Given the description of an element on the screen output the (x, y) to click on. 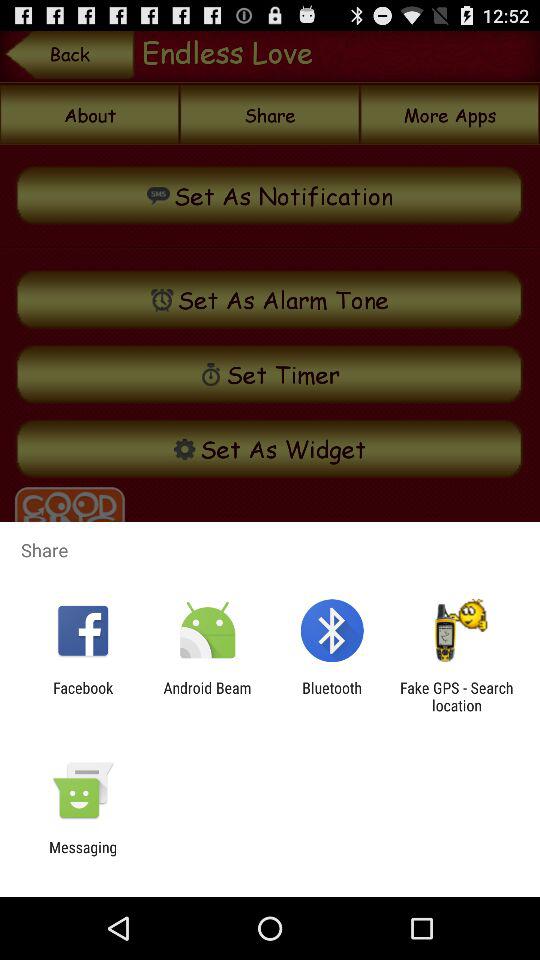
jump until messaging app (83, 856)
